Given the description of an element on the screen output the (x, y) to click on. 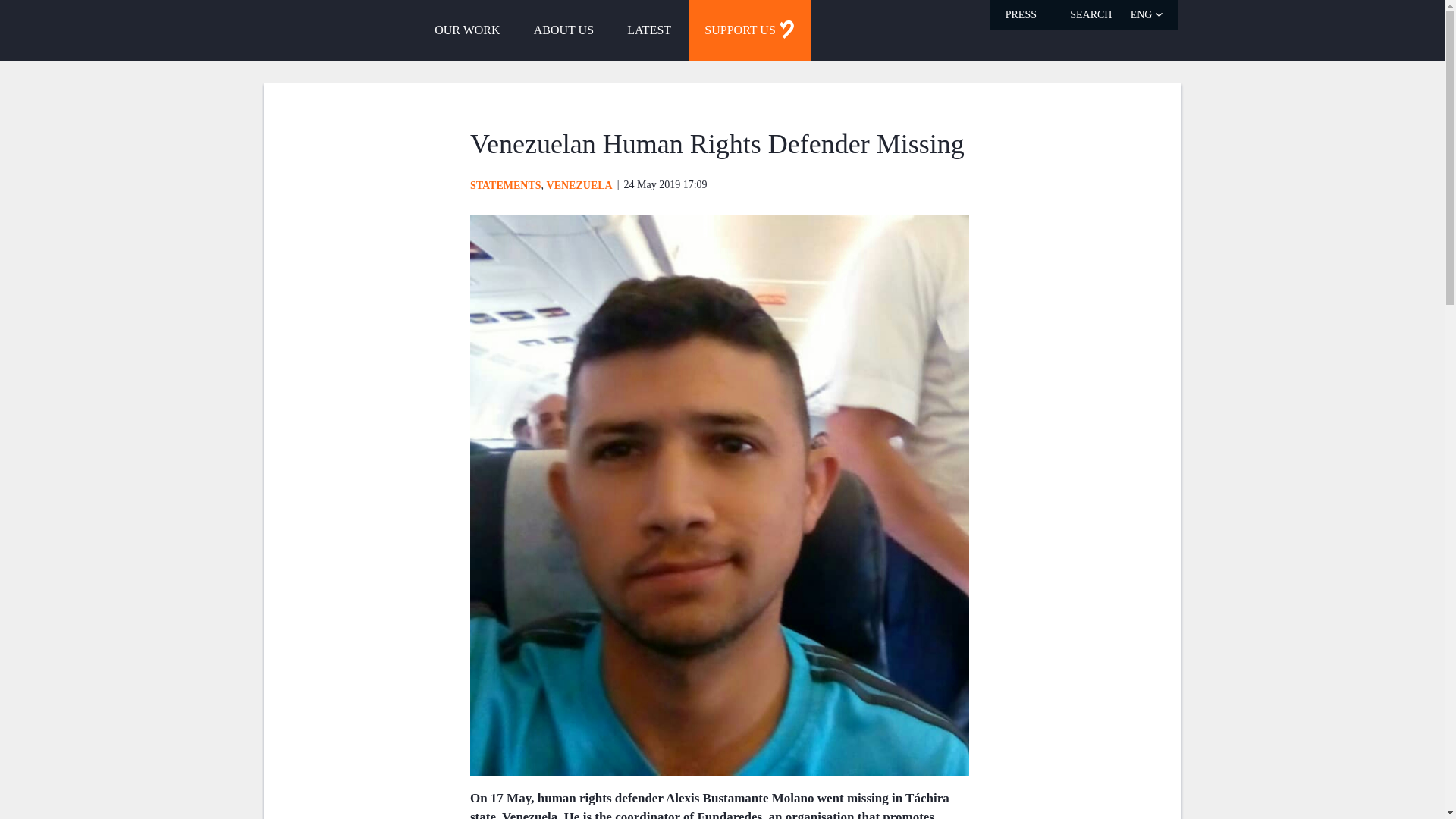
Civil Rights Defenders (309, 29)
ABOUT US (563, 30)
LATEST (648, 30)
OUR WORK (467, 30)
